Given the description of an element on the screen output the (x, y) to click on. 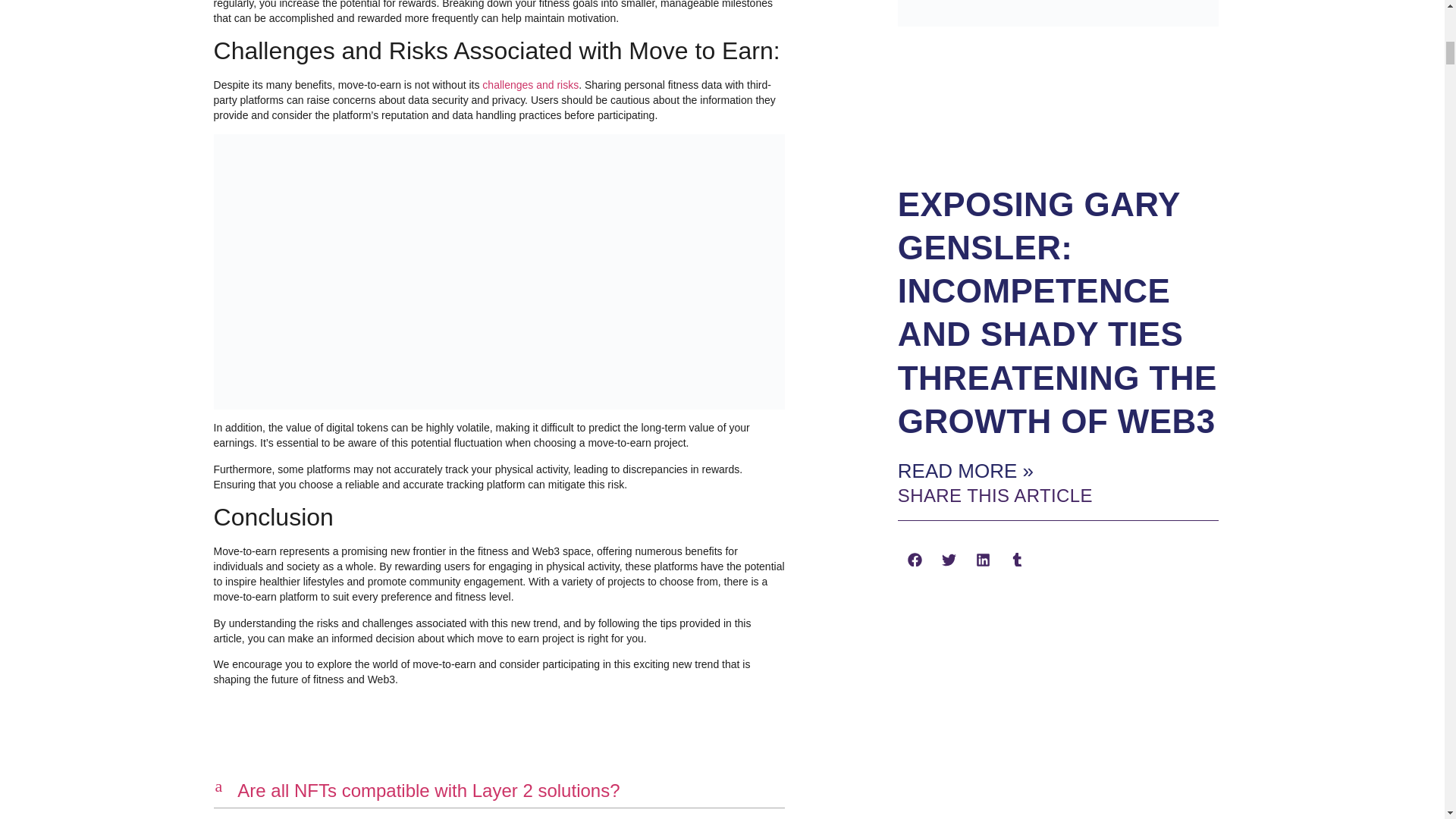
challenges and risks (499, 815)
